Given the description of an element on the screen output the (x, y) to click on. 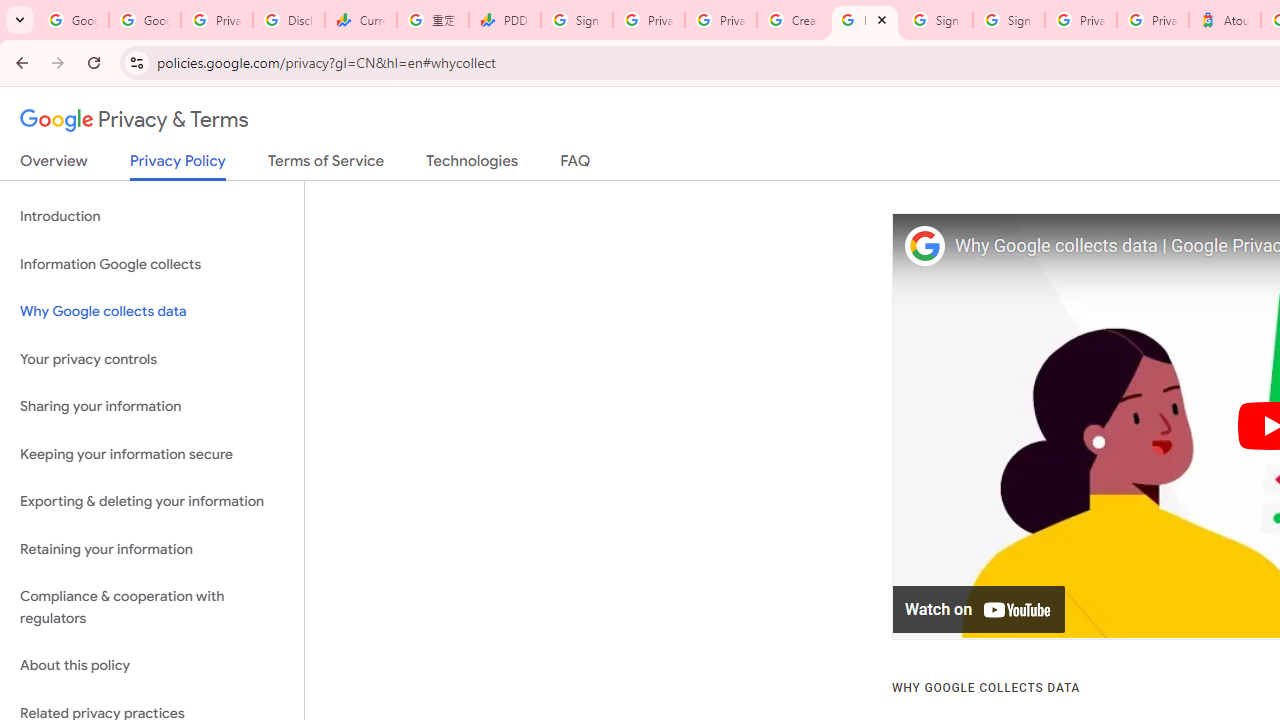
Create your Google Account (792, 20)
Privacy Checkup (720, 20)
Exporting & deleting your information (152, 502)
Why Google collects data (152, 312)
Keeping your information secure (152, 453)
PDD Holdings Inc - ADR (PDD) Price & News - Google Finance (504, 20)
Your privacy controls (152, 358)
Currencies - Google Finance (360, 20)
